Given the description of an element on the screen output the (x, y) to click on. 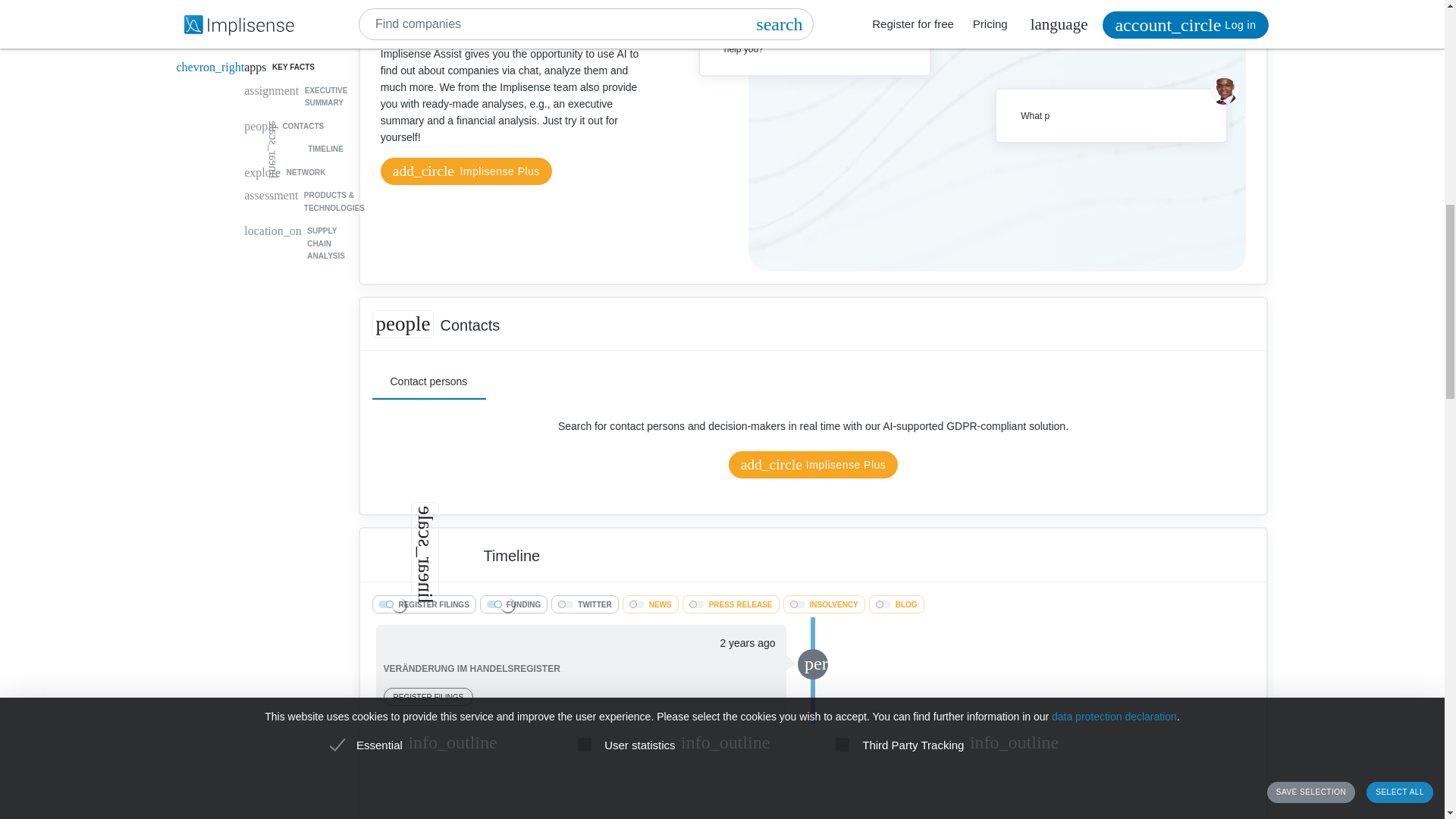
A free account is required to use this filter (514, 604)
PRESS RELEASE (730, 604)
REGISTER FILINGS (423, 604)
TWITTER (584, 604)
A free account is required to use this filter (423, 604)
FUNDING (514, 604)
Implisense Plus (813, 464)
NEWS (650, 604)
